Given the description of an element on the screen output the (x, y) to click on. 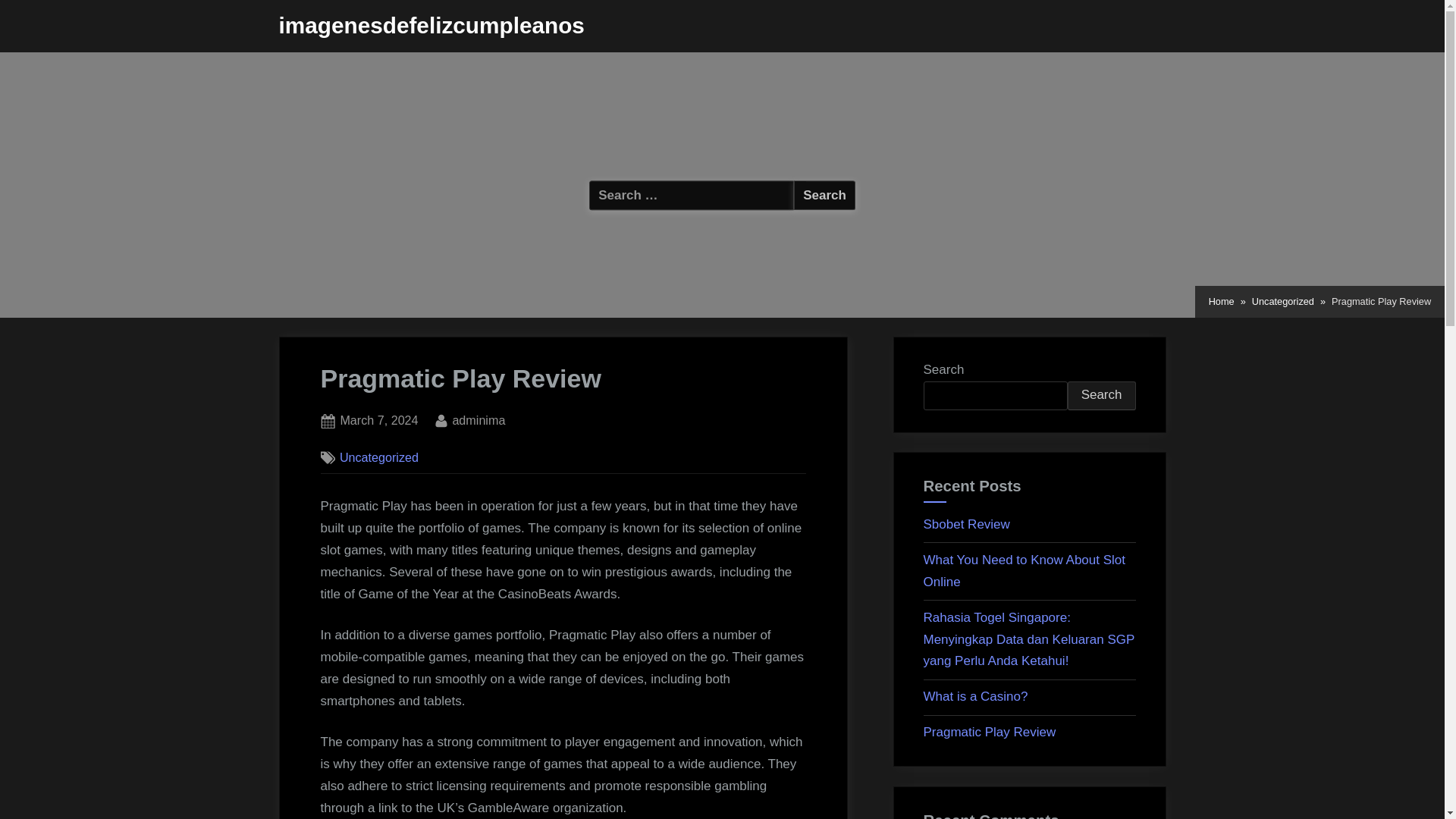
Search (1101, 395)
Uncategorized (379, 457)
Sbobet Review (966, 523)
Search (824, 194)
What is a Casino? (378, 420)
Search (975, 696)
Search (478, 420)
What You Need to Know About Slot Online (824, 194)
Home (824, 194)
Uncategorized (1024, 570)
imagenesdefelizcumpleanos (1221, 301)
Pragmatic Play Review (1283, 301)
